Given the description of an element on the screen output the (x, y) to click on. 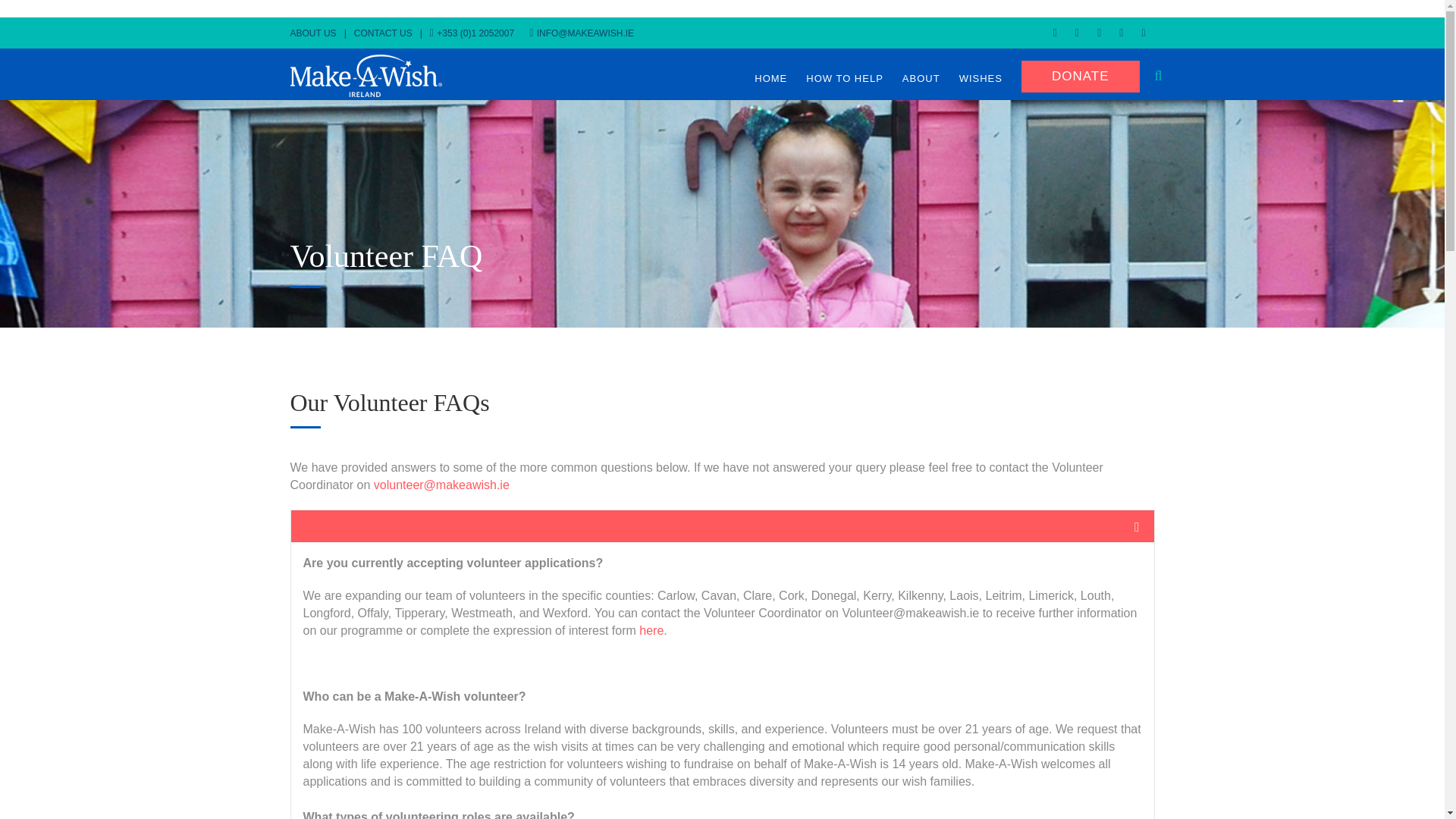
HOW TO HELP (844, 78)
DONATE (1081, 76)
here (651, 630)
WISHES (981, 78)
CONTACT US (386, 32)
ABOUT US (316, 32)
ABOUT (921, 78)
